Given the description of an element on the screen output the (x, y) to click on. 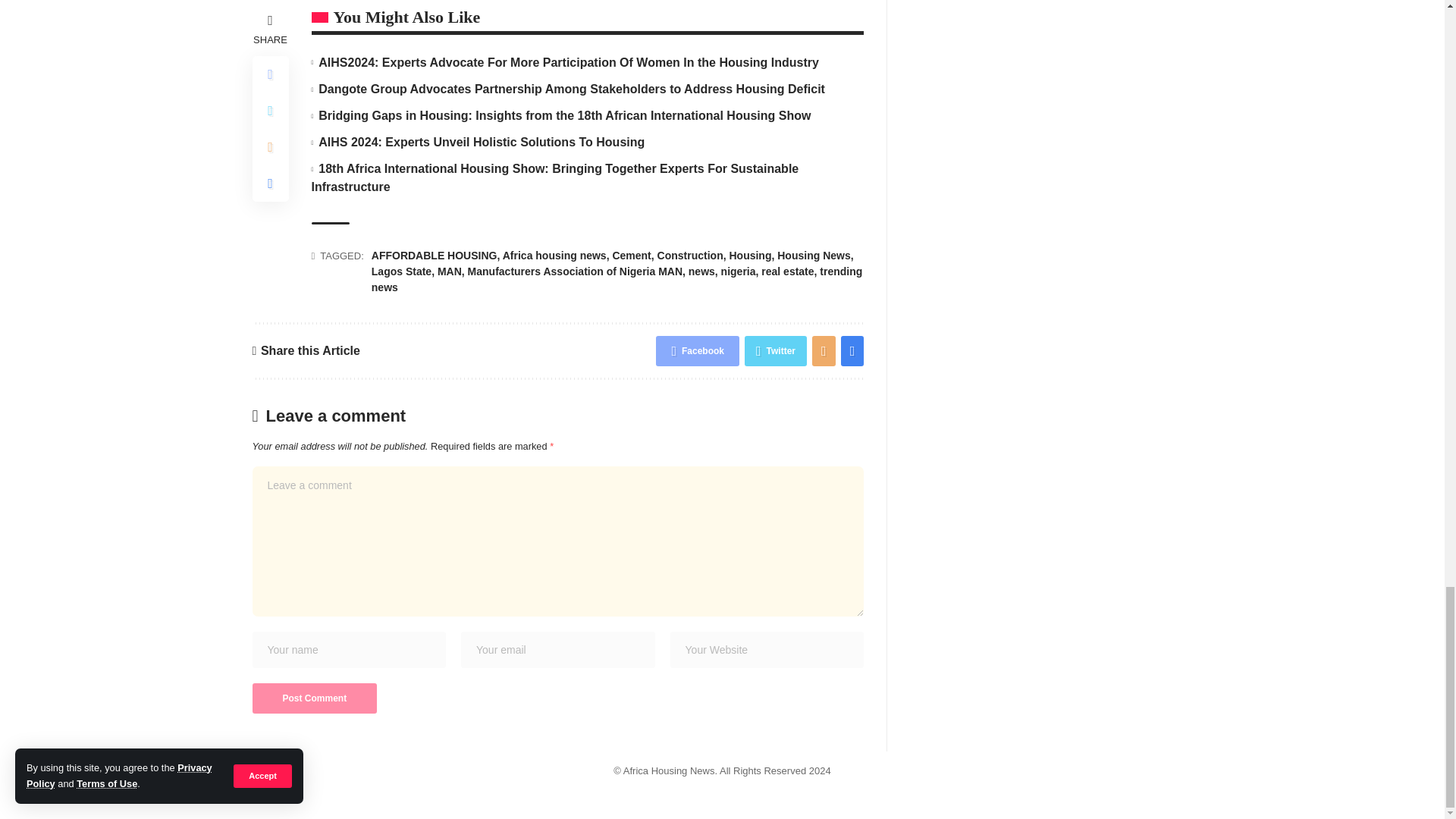
Post Comment (314, 698)
